Given the description of an element on the screen output the (x, y) to click on. 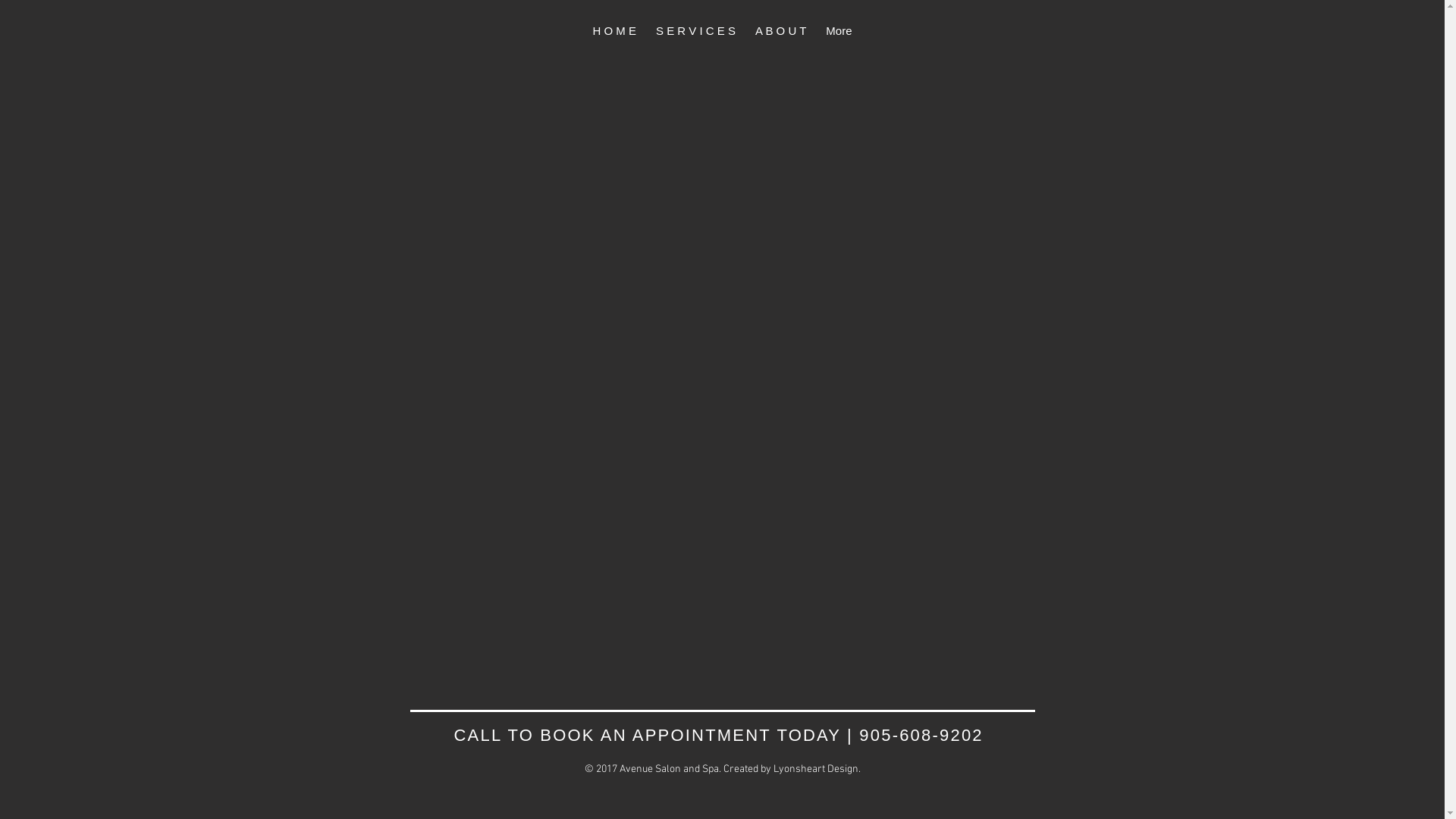
H O M E Element type: text (614, 31)
S E R V I C E S Element type: text (695, 31)
A B O U T Element type: text (780, 31)
